Given the description of an element on the screen output the (x, y) to click on. 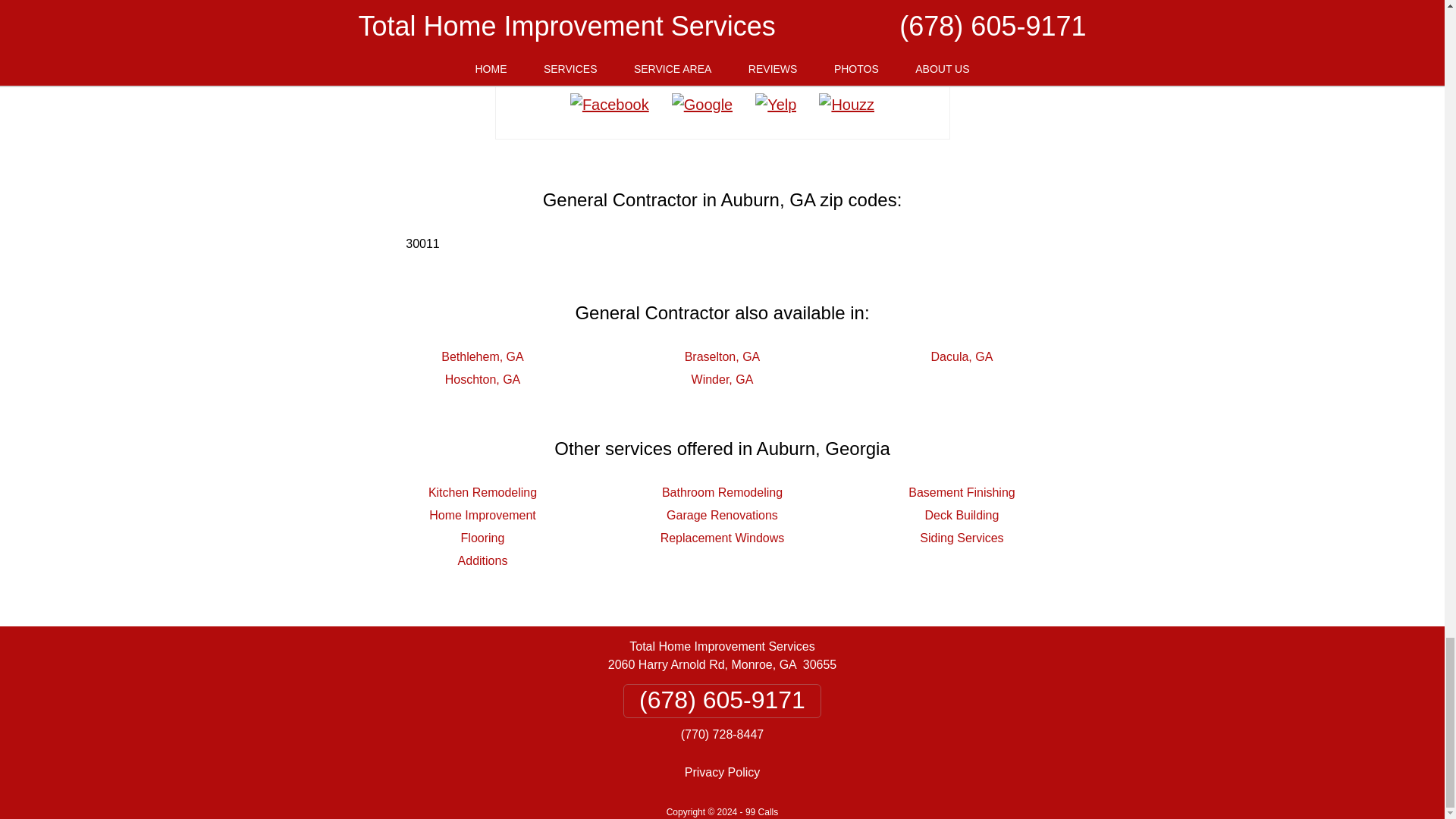
Deck Building (961, 514)
Garage Renovations (721, 514)
Houzz (846, 104)
Dacula, GA (961, 356)
Basement Finishing (961, 492)
Facebook (610, 104)
Home Improvement (482, 514)
Hoschton, GA (483, 379)
Winder, GA (722, 379)
Bethlehem, GA (482, 356)
Braselton, GA (722, 356)
Google (702, 104)
Yelp (776, 104)
Kitchen Remodeling (482, 492)
Bathroom Remodeling (722, 492)
